Given the description of an element on the screen output the (x, y) to click on. 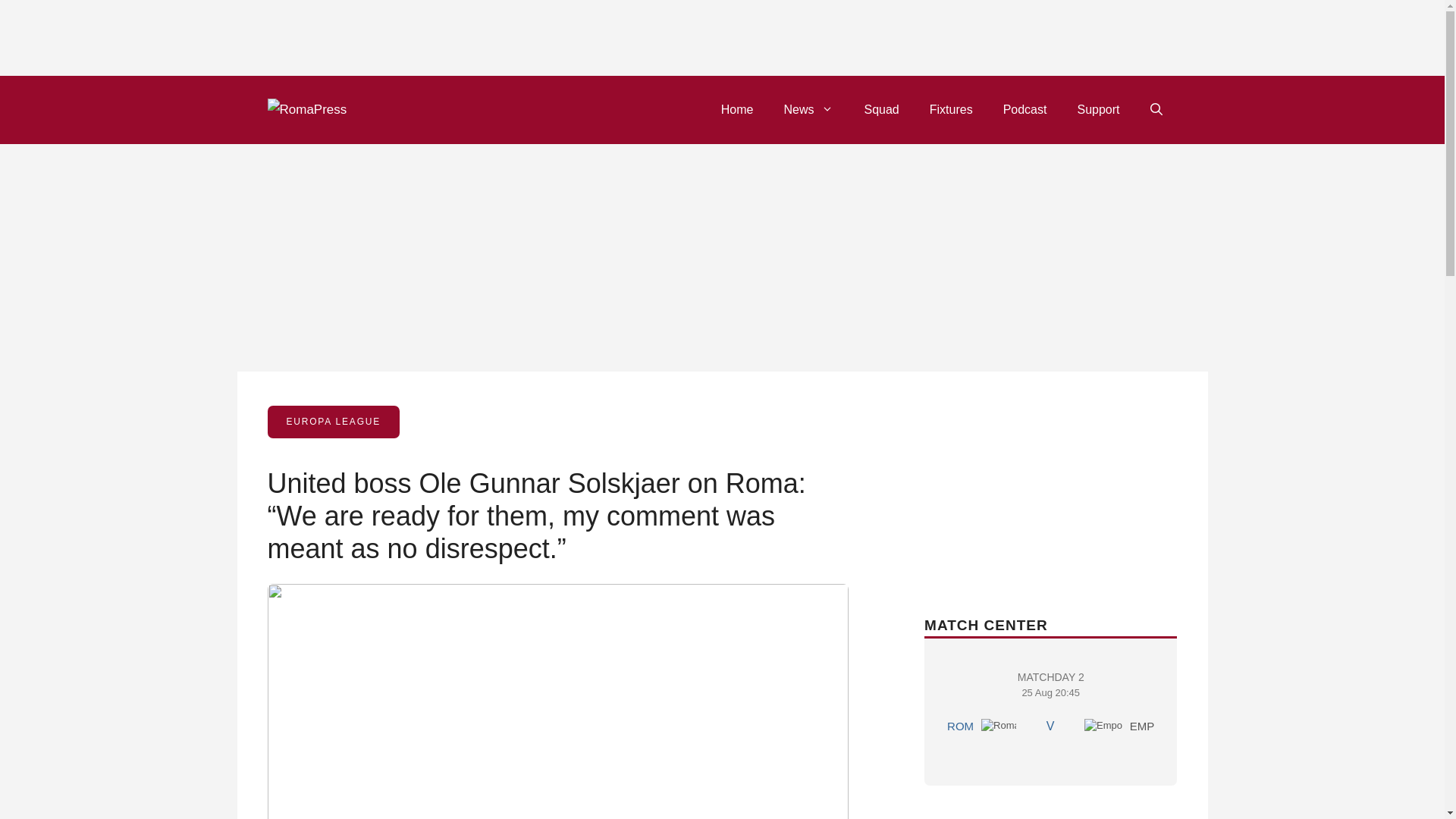
Home (737, 109)
Empoli (1103, 725)
Fixtures (951, 109)
Roma (998, 725)
News (808, 109)
Squad (1050, 707)
ROM (881, 109)
Podcast (960, 725)
Support (1025, 109)
